Given the description of an element on the screen output the (x, y) to click on. 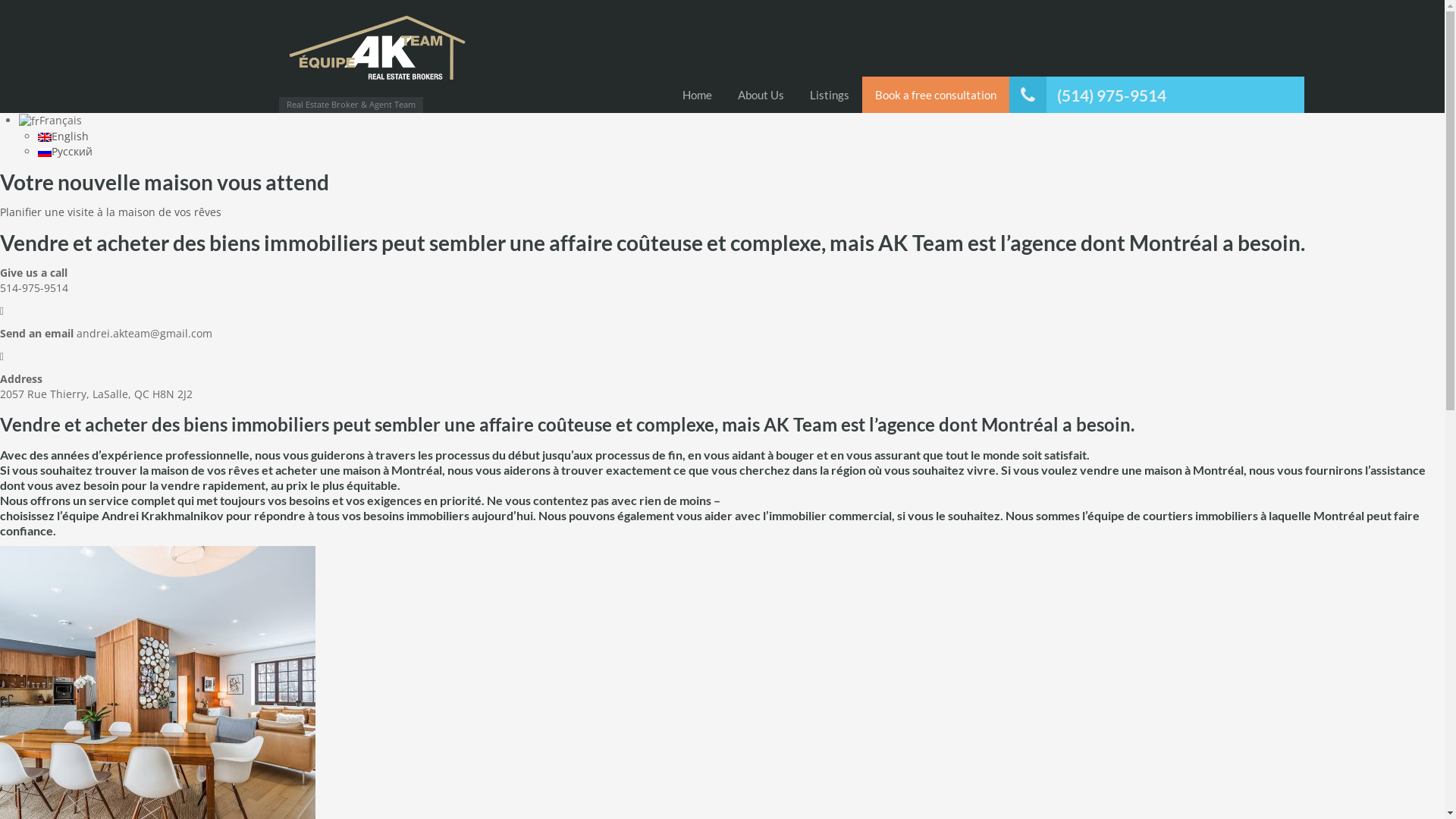
Home Element type: text (696, 94)
Book a free consultation Element type: text (934, 94)
English Element type: text (62, 135)
About Us Element type: text (760, 94)
Listings Element type: text (828, 94)
Andrei Krakhmalnikov | AK Team Element type: hover (377, 52)
